Given the description of an element on the screen output the (x, y) to click on. 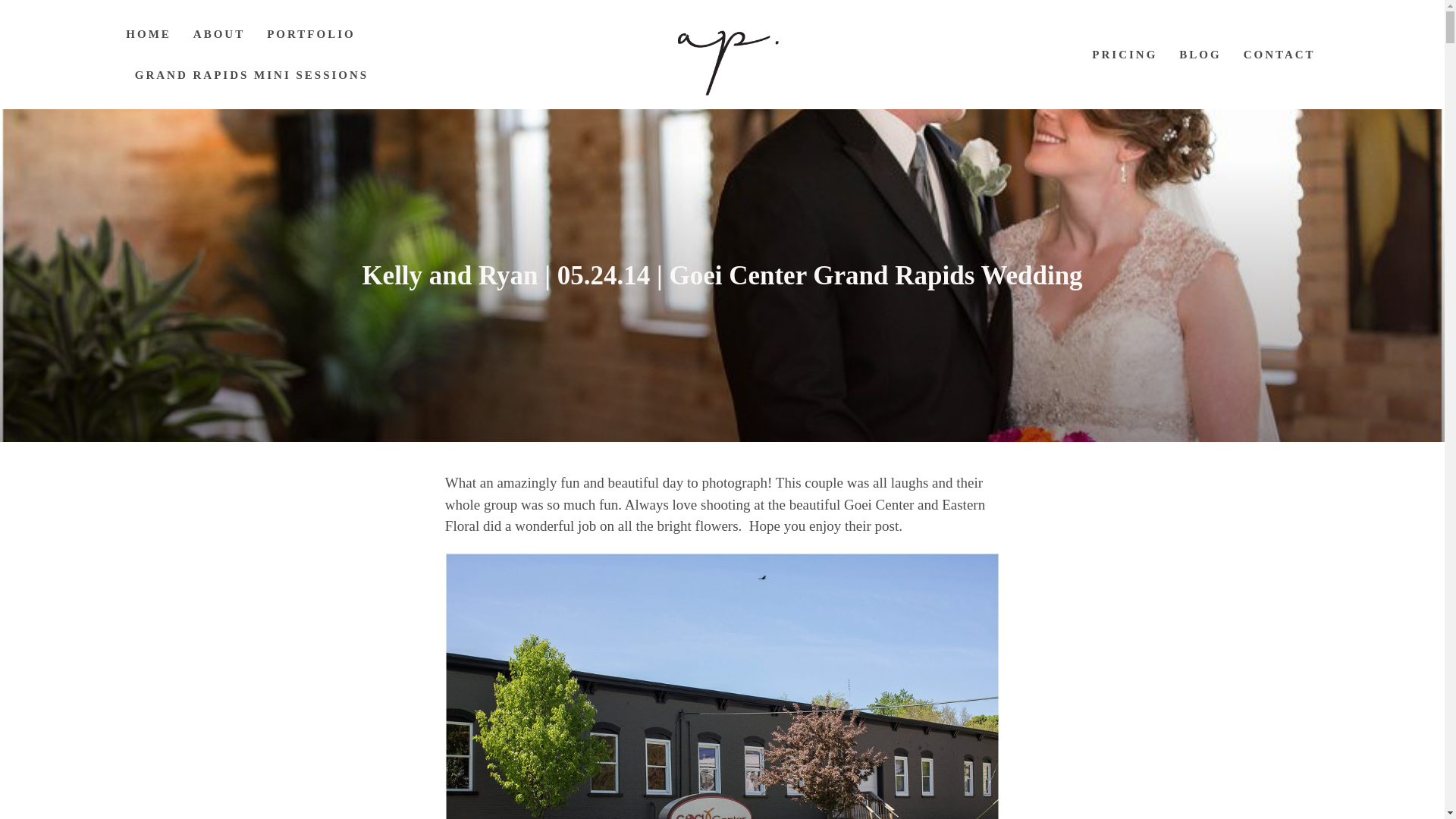
ABOUT (218, 33)
PRICING (1124, 54)
BLOG (1200, 54)
PORTFOLIO (310, 33)
GRAND RAPIDS MINI SESSIONS (251, 74)
CONTACT (1279, 54)
HOME (148, 33)
